Given the description of an element on the screen output the (x, y) to click on. 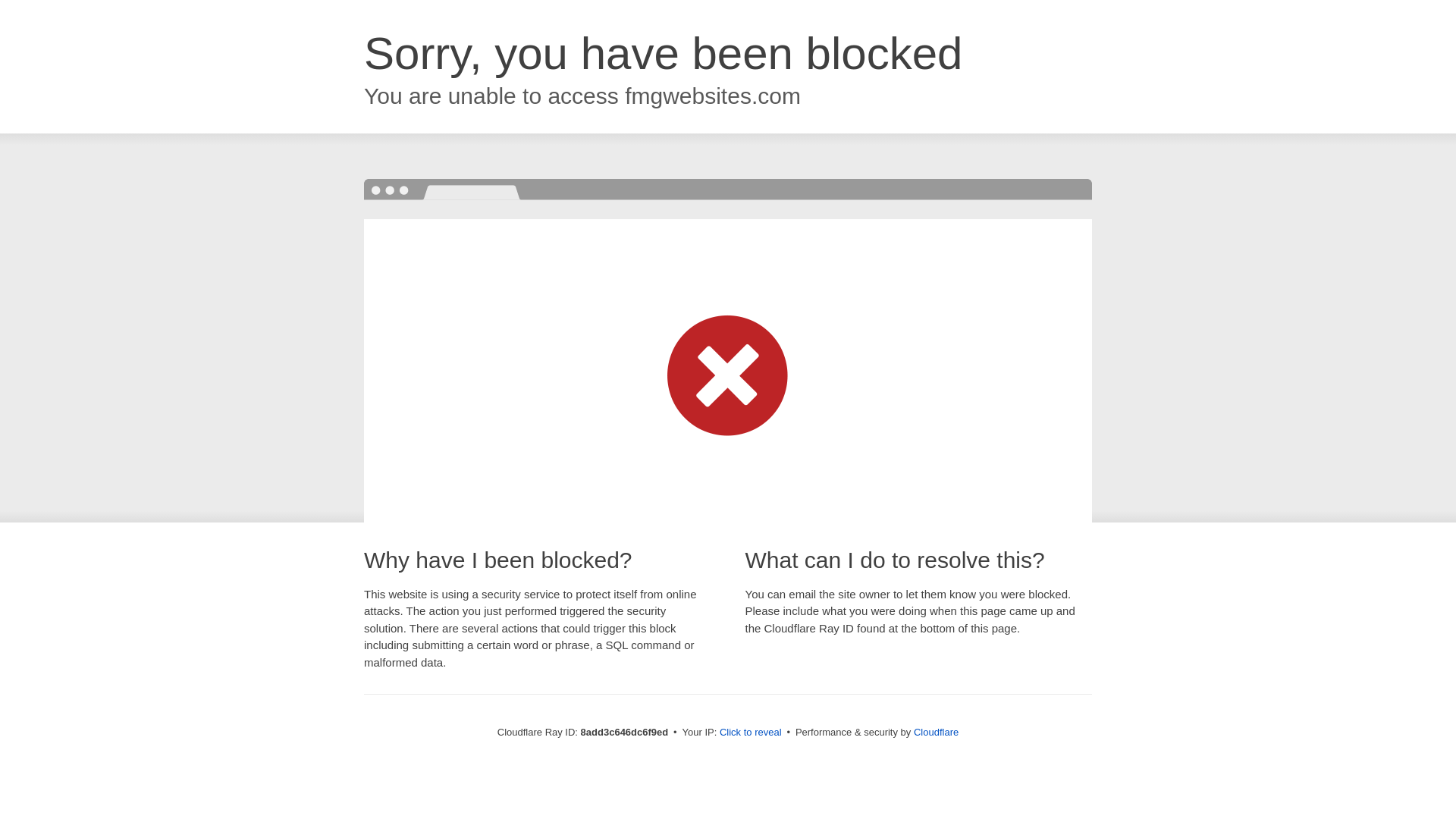
Cloudflare (936, 731)
Click to reveal (750, 732)
